Given the description of an element on the screen output the (x, y) to click on. 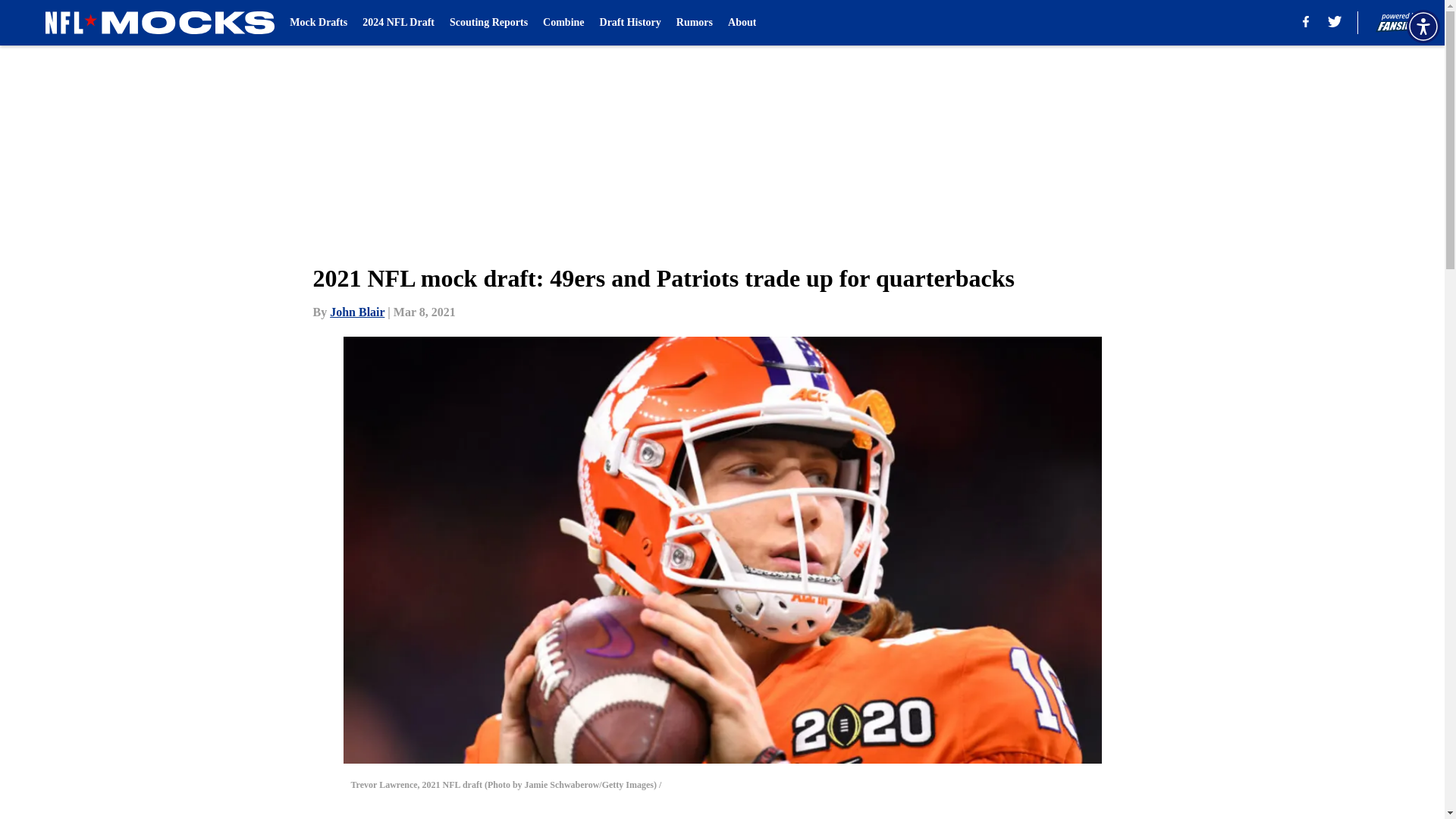
Combine (563, 22)
Scouting Reports (488, 22)
Draft History (630, 22)
Mock Drafts (318, 22)
About (741, 22)
Accessibility Menu (1422, 26)
Rumors (695, 22)
2024 NFL Draft (397, 22)
John Blair (357, 311)
